Given the description of an element on the screen output the (x, y) to click on. 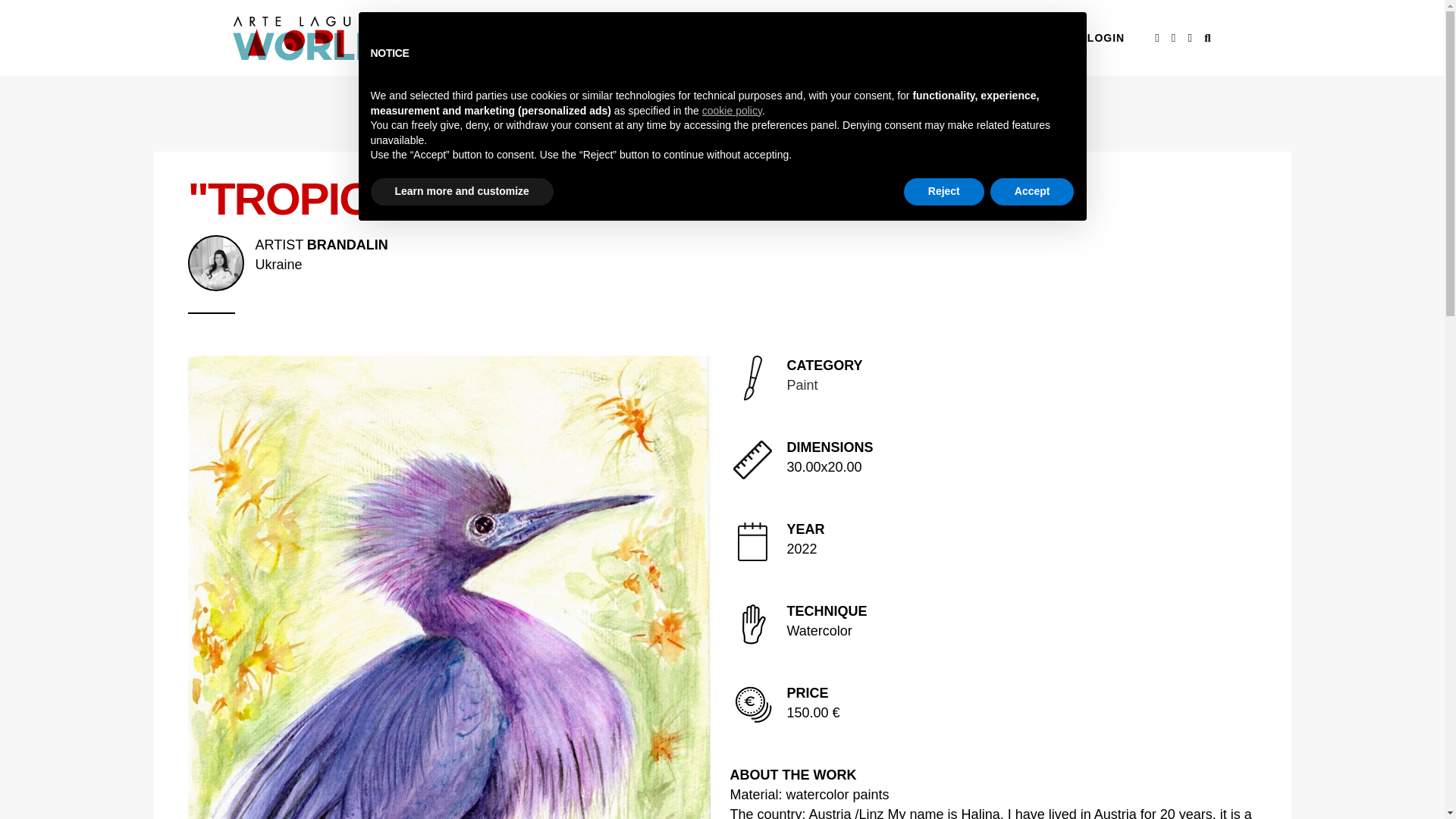
Works (751, 38)
BrandAlin from Wolotschysk - Ukraine (722, 254)
PRIZE (816, 38)
Login (1105, 38)
SERVICES (890, 38)
LOGIN (1105, 38)
CONTACT (1032, 38)
Prize (816, 38)
WORKS (751, 38)
BLOG (962, 38)
Contact (722, 254)
View this category (1032, 38)
